Given the description of an element on the screen output the (x, y) to click on. 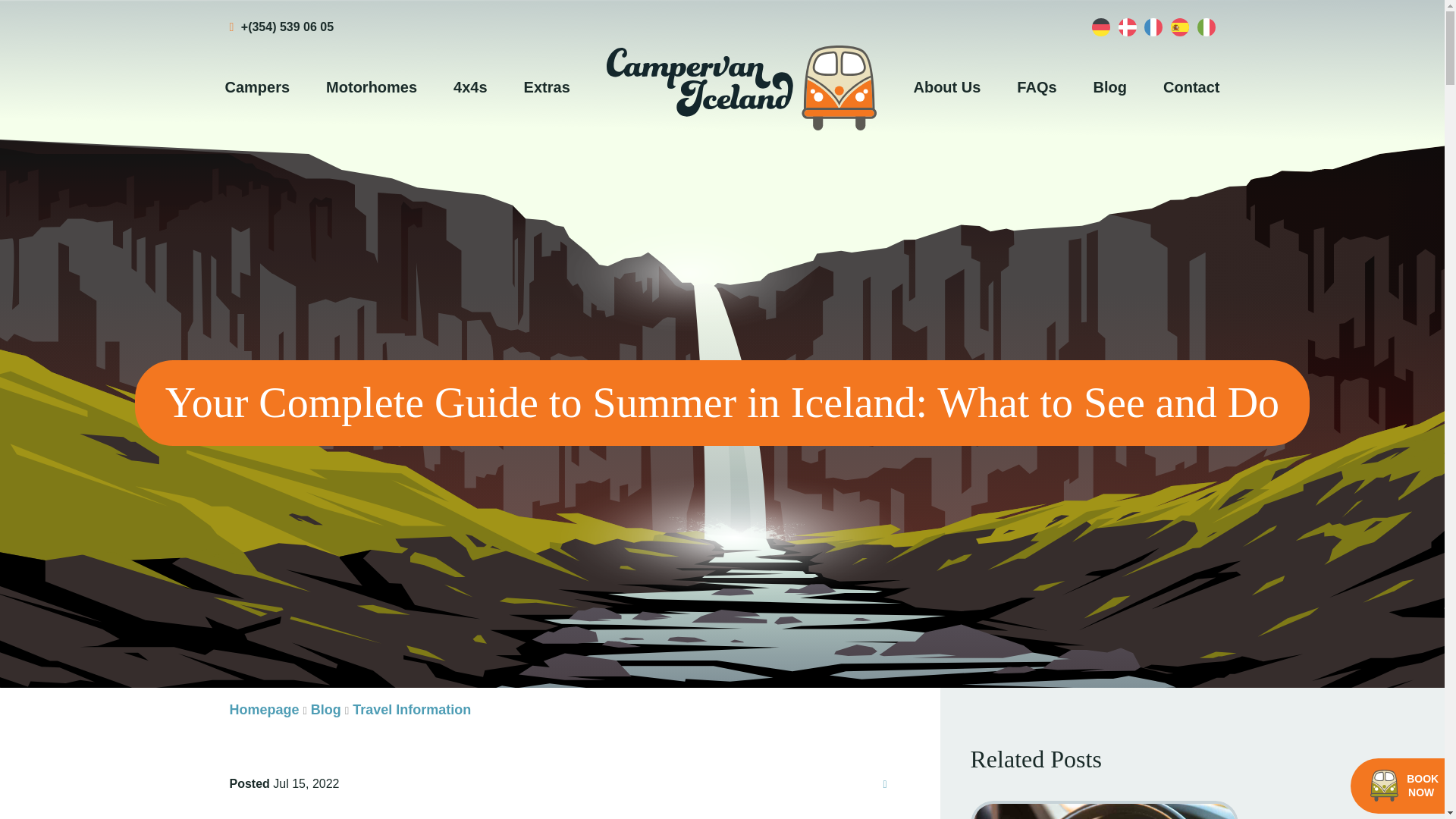
Travel Information (411, 709)
Motorhomes (371, 85)
Blog (325, 709)
Extras (546, 85)
Contact (1190, 85)
FAQs (1036, 85)
Blog (1109, 85)
Homepage (263, 709)
4x4s (470, 85)
About Us (946, 85)
